Given the description of an element on the screen output the (x, y) to click on. 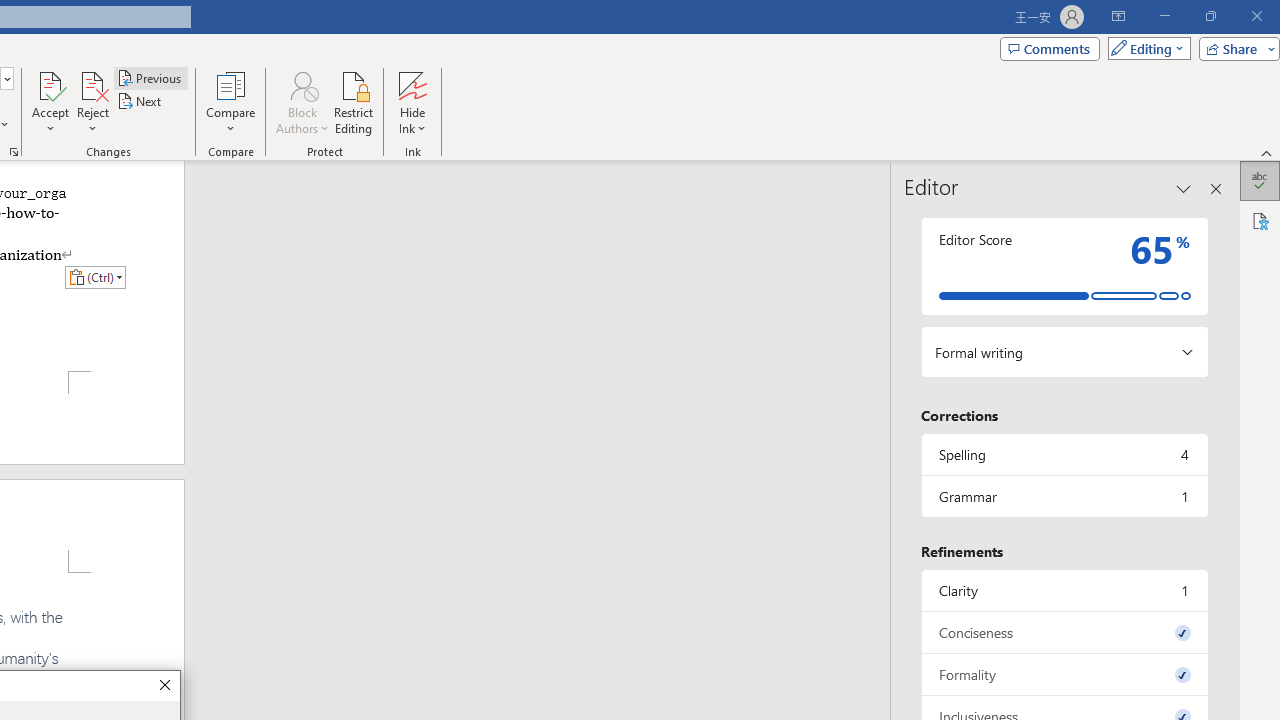
Hide Ink (412, 102)
Compare (230, 102)
Action: Paste alternatives (95, 276)
Block Authors (302, 102)
Hide Ink (412, 84)
Previous (150, 78)
Accessibility (1260, 220)
Spelling, 4 issues. Press space or enter to review items. (1064, 454)
